Given the description of an element on the screen output the (x, y) to click on. 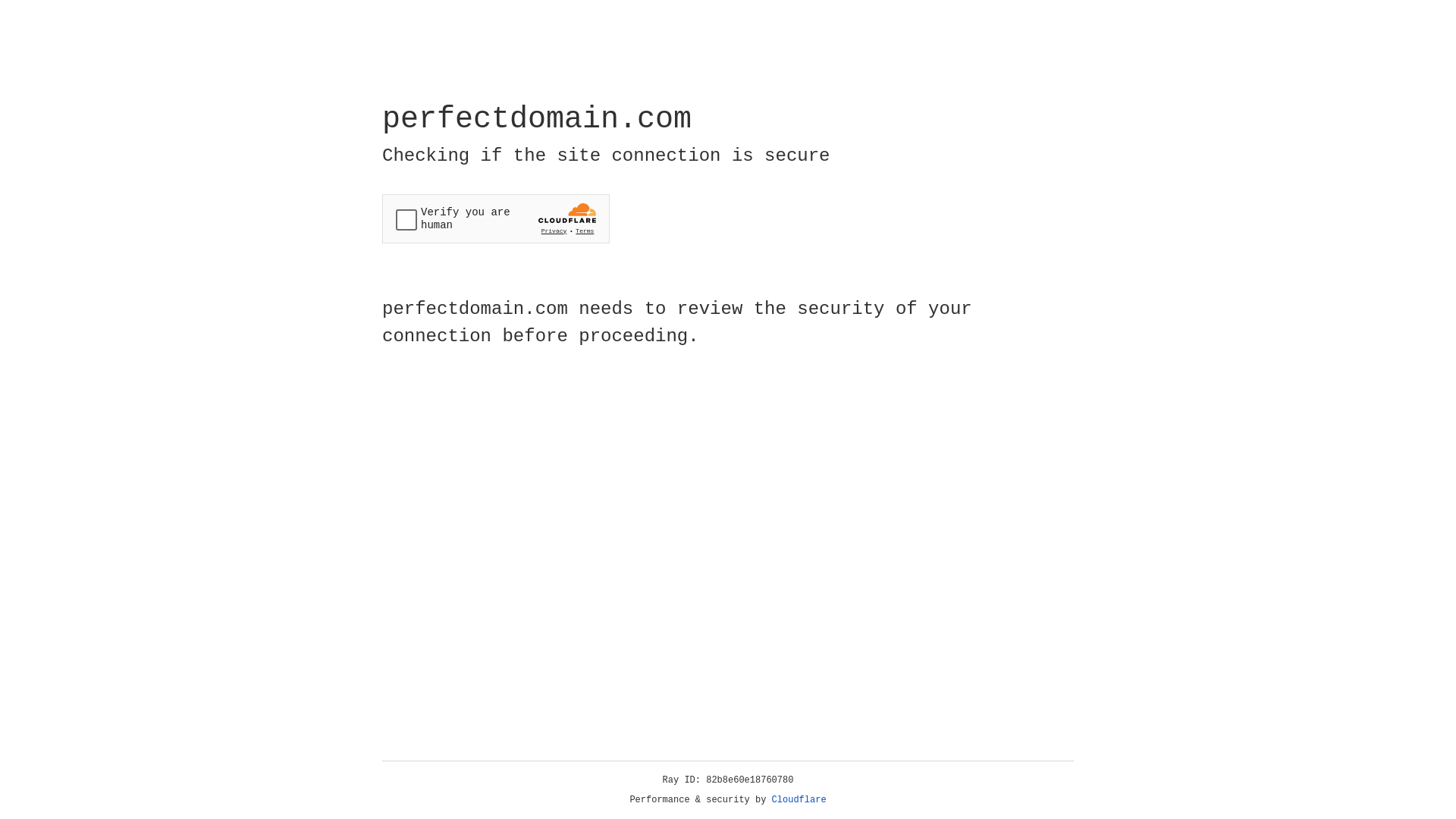
Widget containing a Cloudflare security challenge Element type: hover (495, 218)
Cloudflare Element type: text (798, 799)
